Given the description of an element on the screen output the (x, y) to click on. 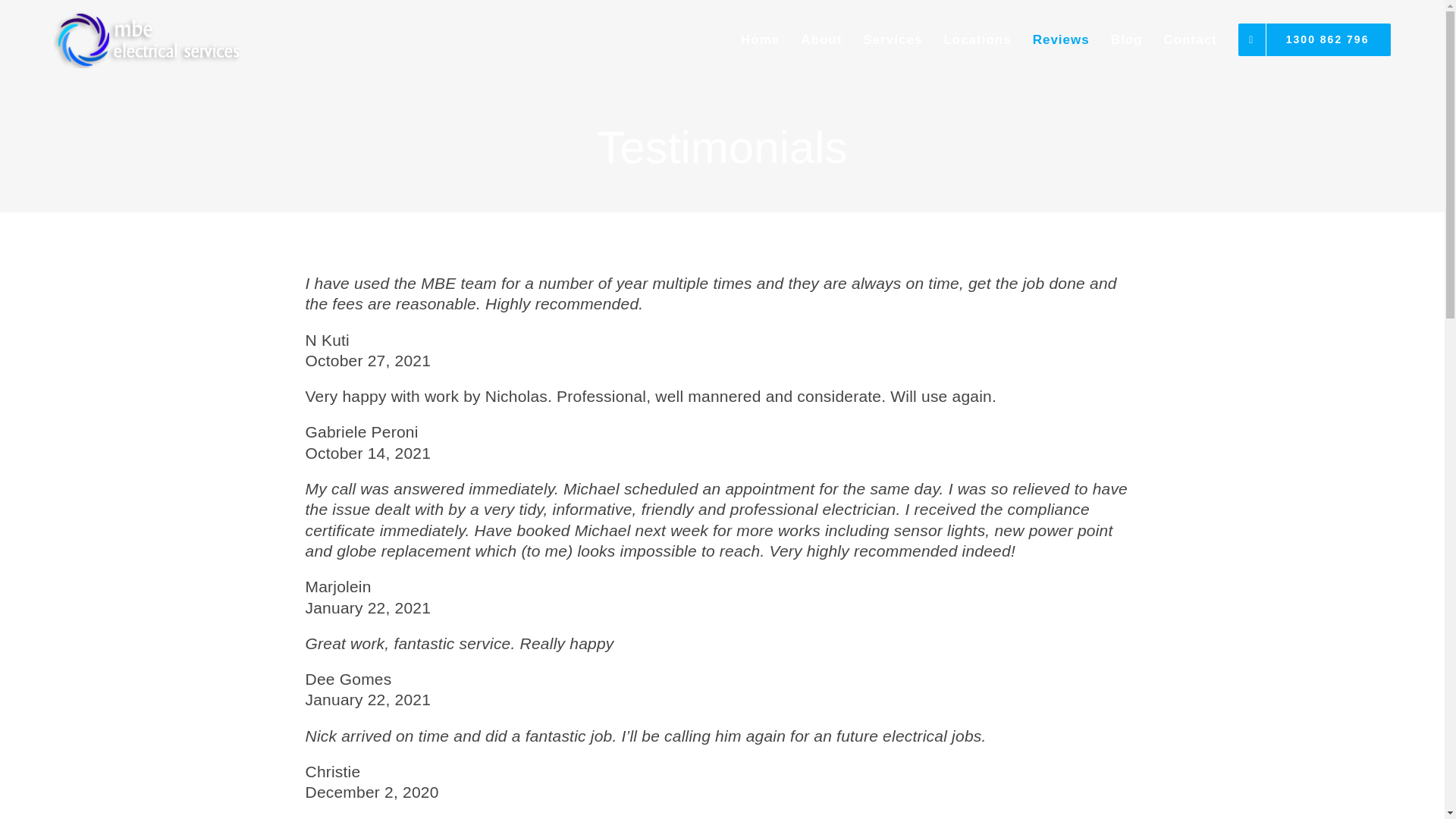
1300 862 796 (1315, 39)
